Given the description of an element on the screen output the (x, y) to click on. 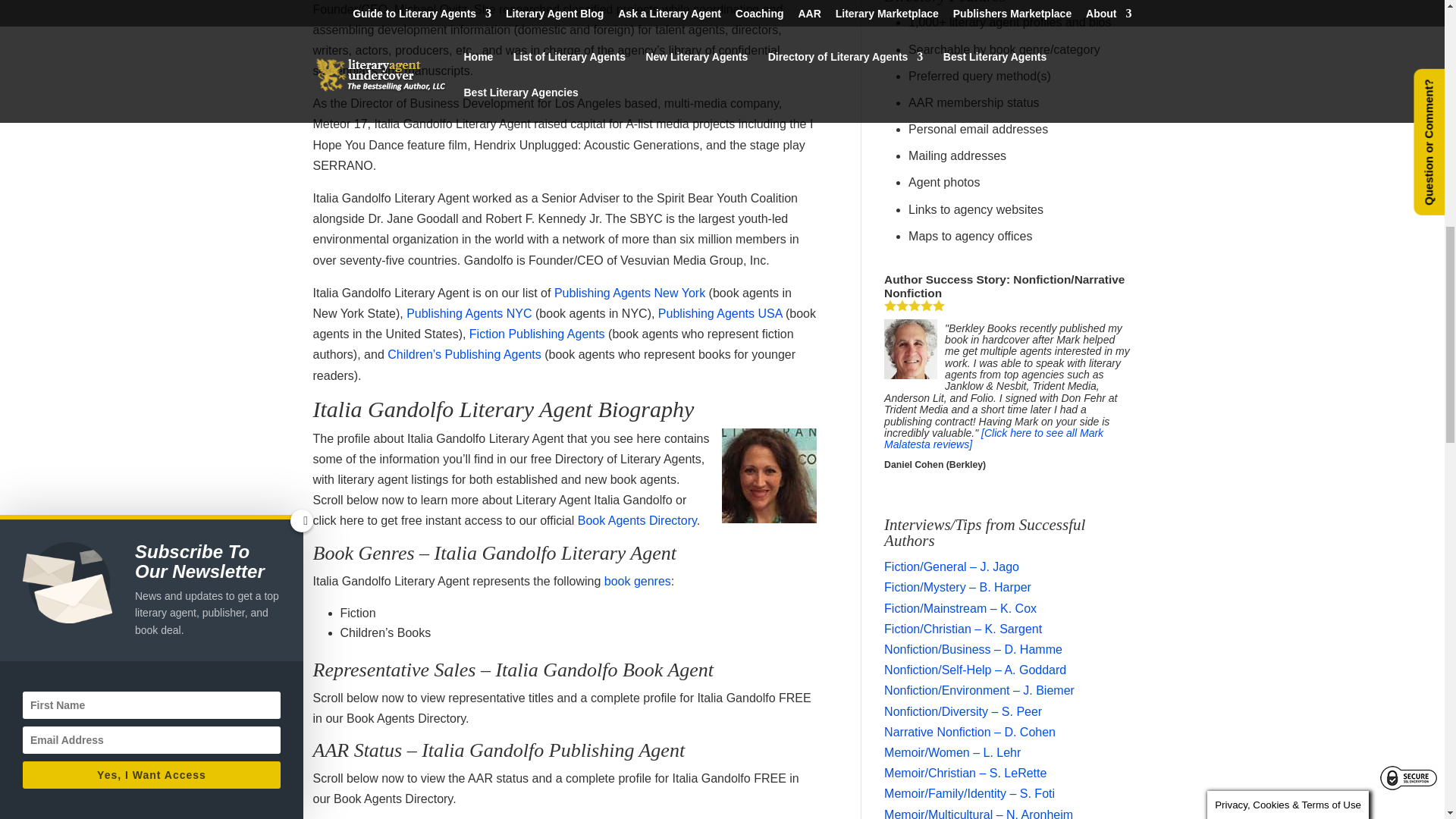
Book Genres - Genres of Books (637, 581)
